Given the description of an element on the screen output the (x, y) to click on. 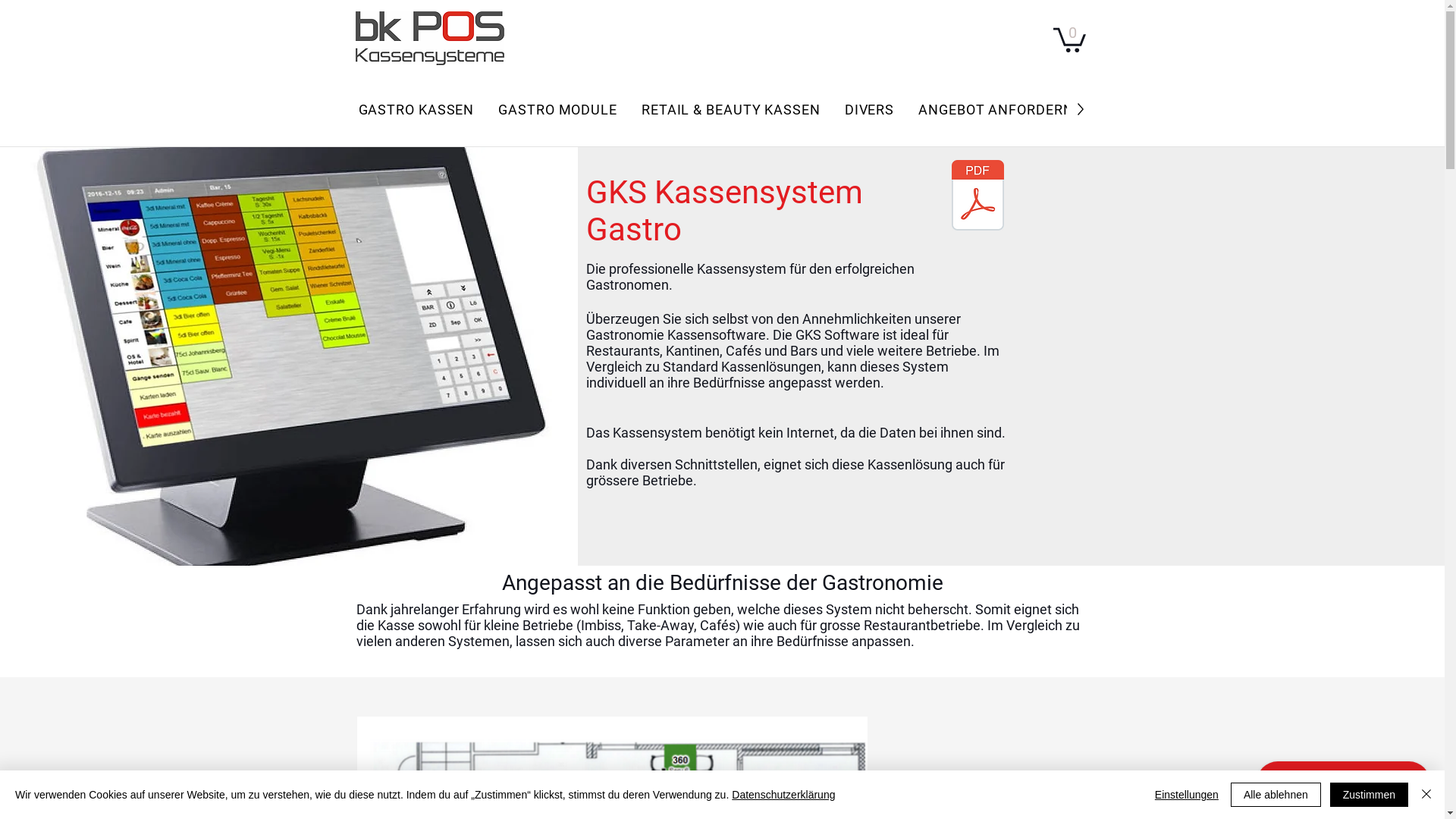
0 Element type: text (1068, 38)
Alle ablehnen Element type: text (1275, 794)
Gastronomiesoftware GKS mit POSIFLEX Kas Element type: hover (977, 197)
ANGEBOT ANFORDERN Element type: text (995, 108)
Zustimmen Element type: text (1369, 794)
